Given the description of an element on the screen output the (x, y) to click on. 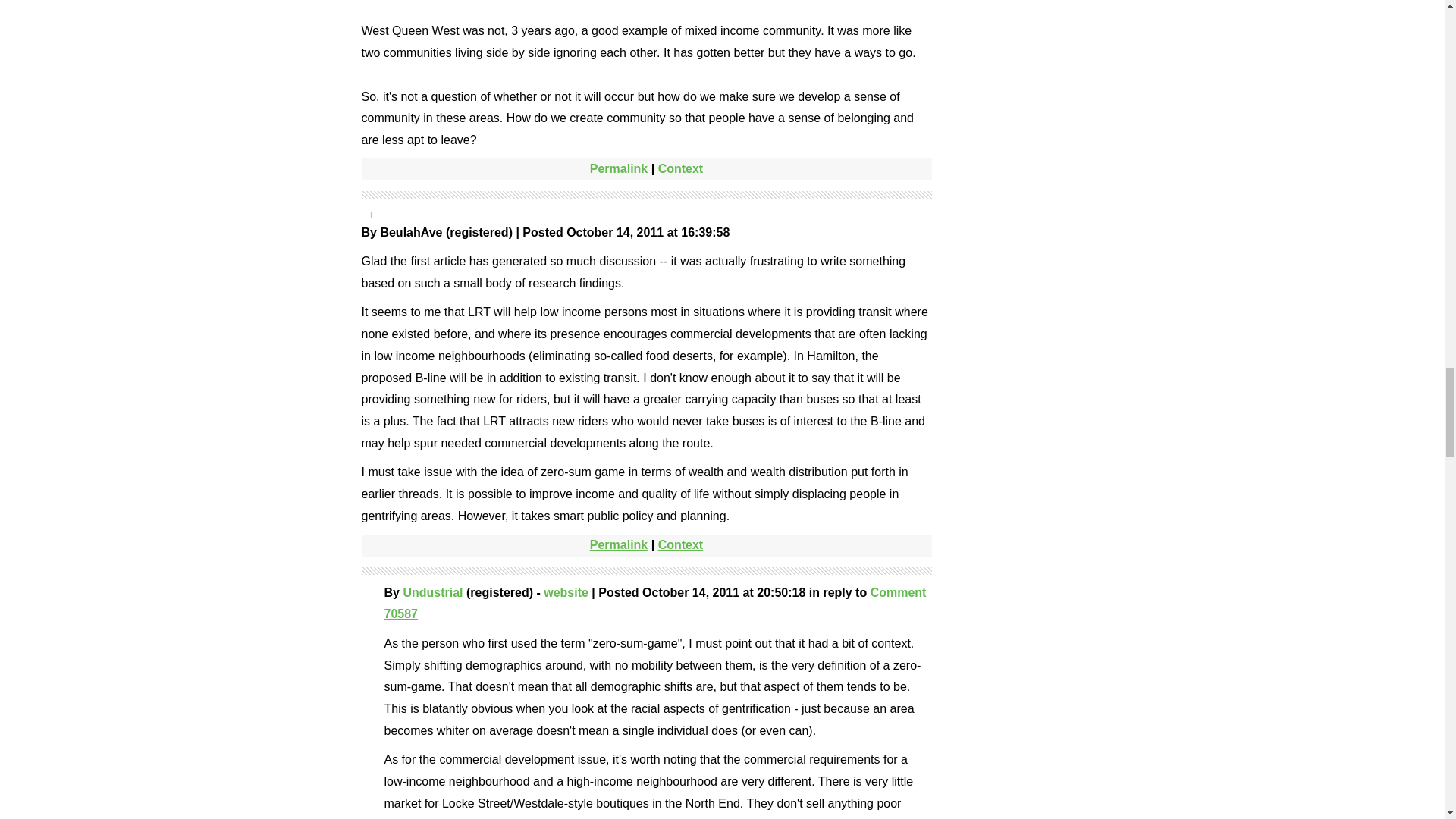
Permalink (618, 544)
Context (680, 544)
Permalink (618, 168)
website (565, 592)
Undustrial (433, 592)
Context (680, 168)
